Given the description of an element on the screen output the (x, y) to click on. 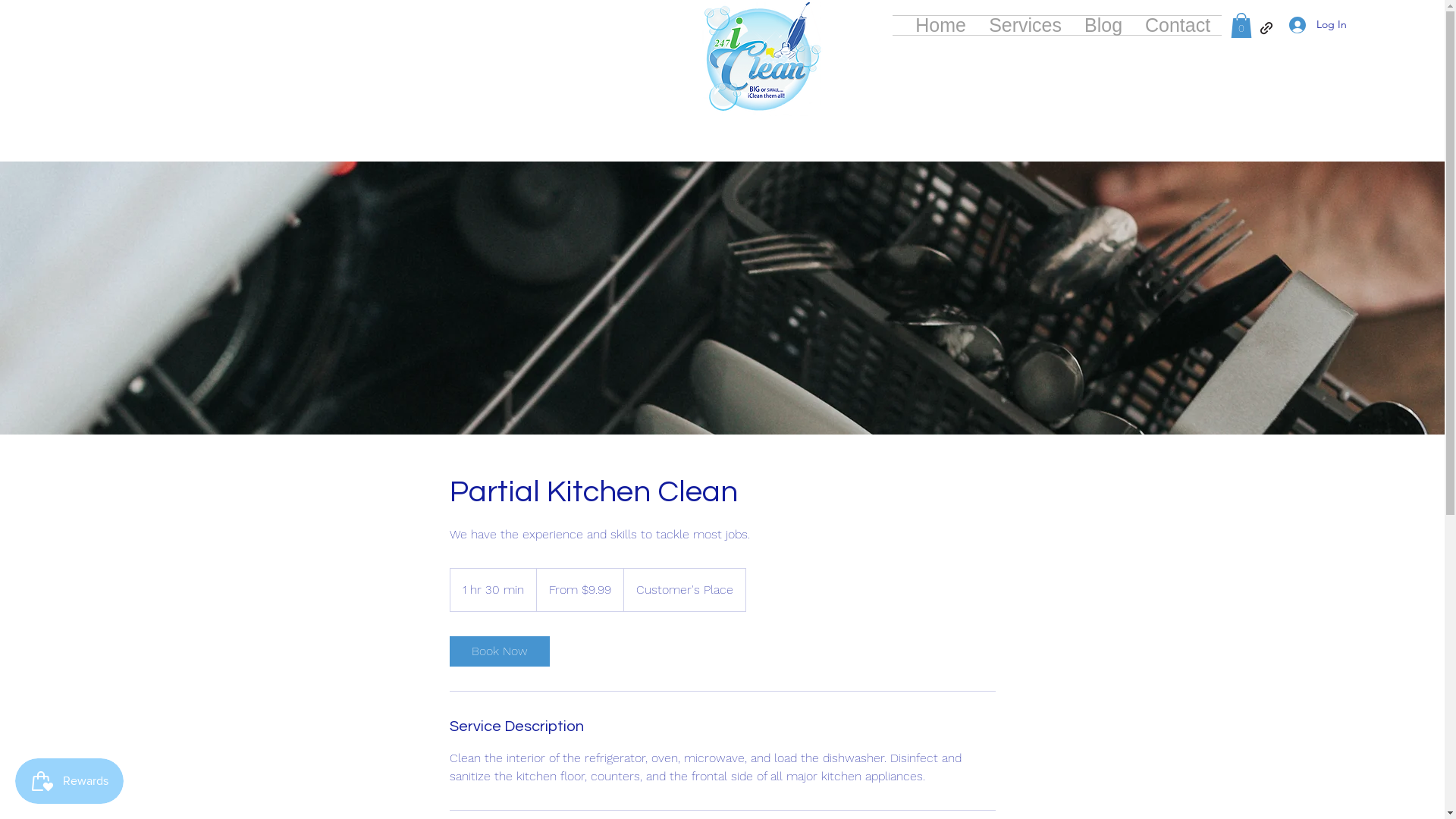
Log In Element type: text (1317, 24)
Book Now Element type: text (498, 651)
Blog Element type: text (1103, 24)
0 Element type: text (1241, 24)
Home Element type: text (940, 24)
Services Element type: text (1025, 24)
Smile.io Rewards Program Launcher Element type: hover (69, 780)
Contact Element type: text (1177, 24)
